Given the description of an element on the screen output the (x, y) to click on. 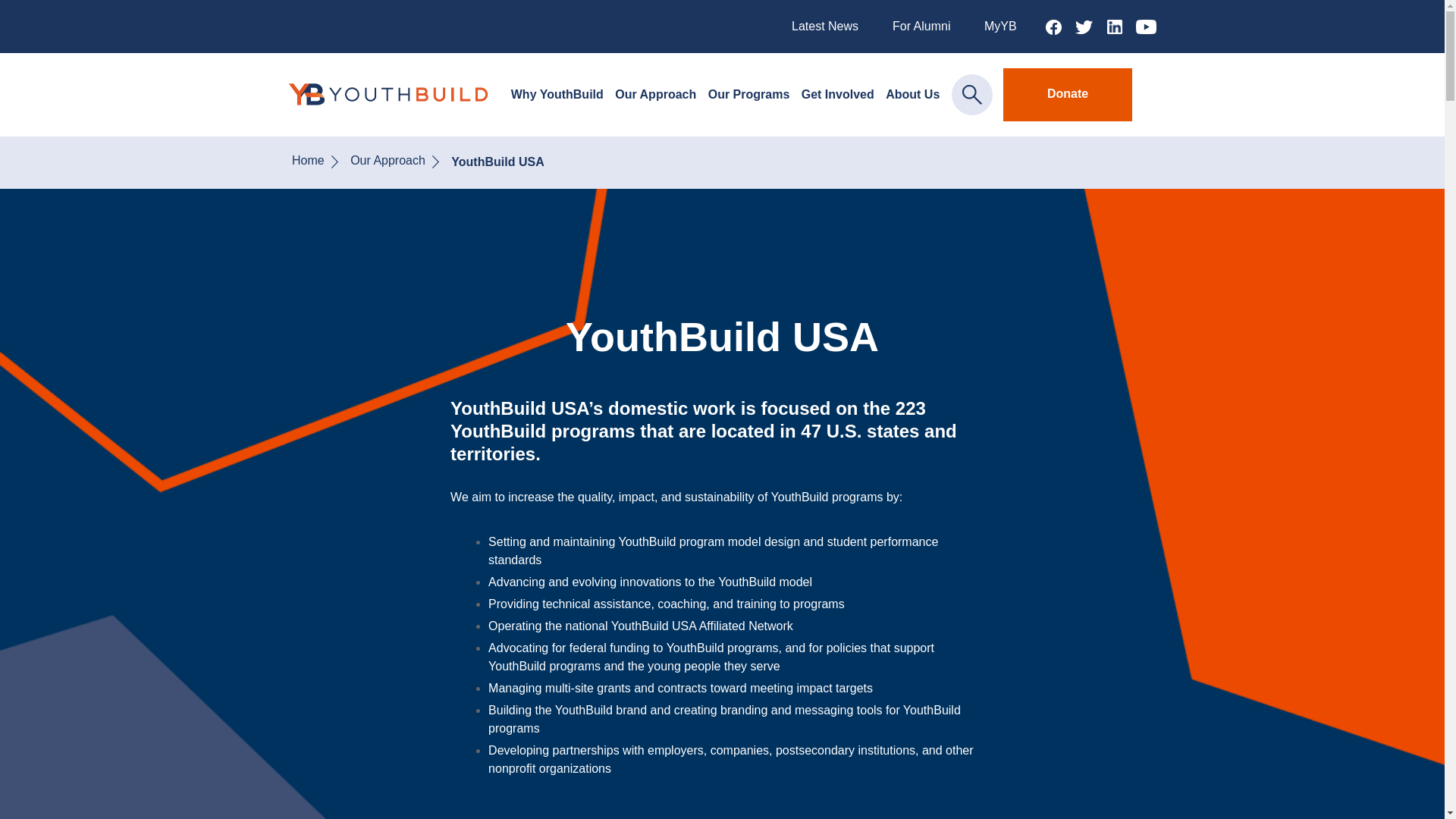
Get Involved (838, 94)
MyYB (1000, 26)
About Us (912, 94)
Donate (1067, 94)
For Alumni (921, 26)
Our Approach (654, 94)
Why YouthBuild (557, 94)
Latest News (825, 26)
Our Programs (748, 94)
